Given the description of an element on the screen output the (x, y) to click on. 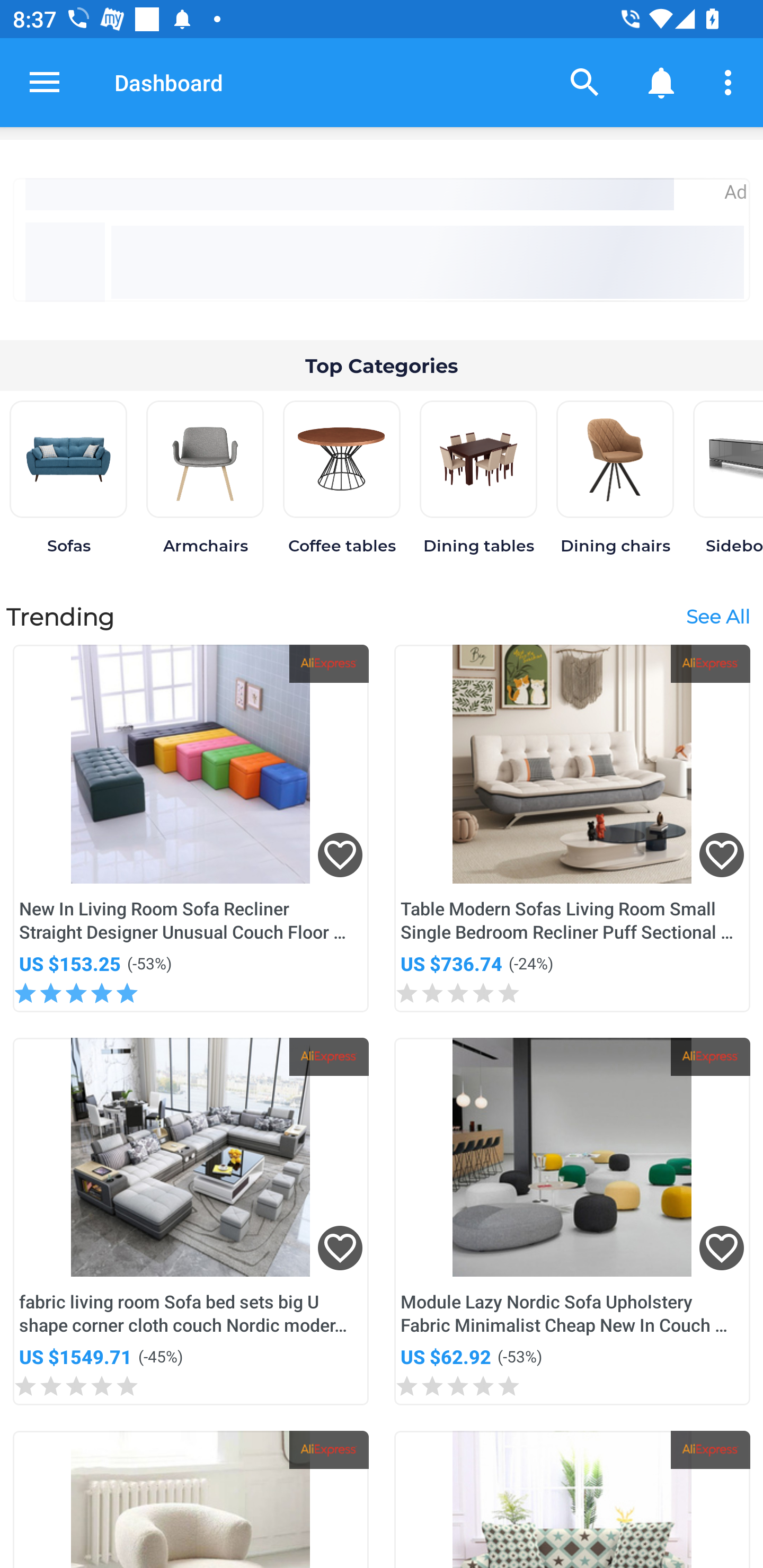
Open navigation drawer (44, 82)
Search (585, 81)
More options (731, 81)
See All (717, 615)
